Given the description of an element on the screen output the (x, y) to click on. 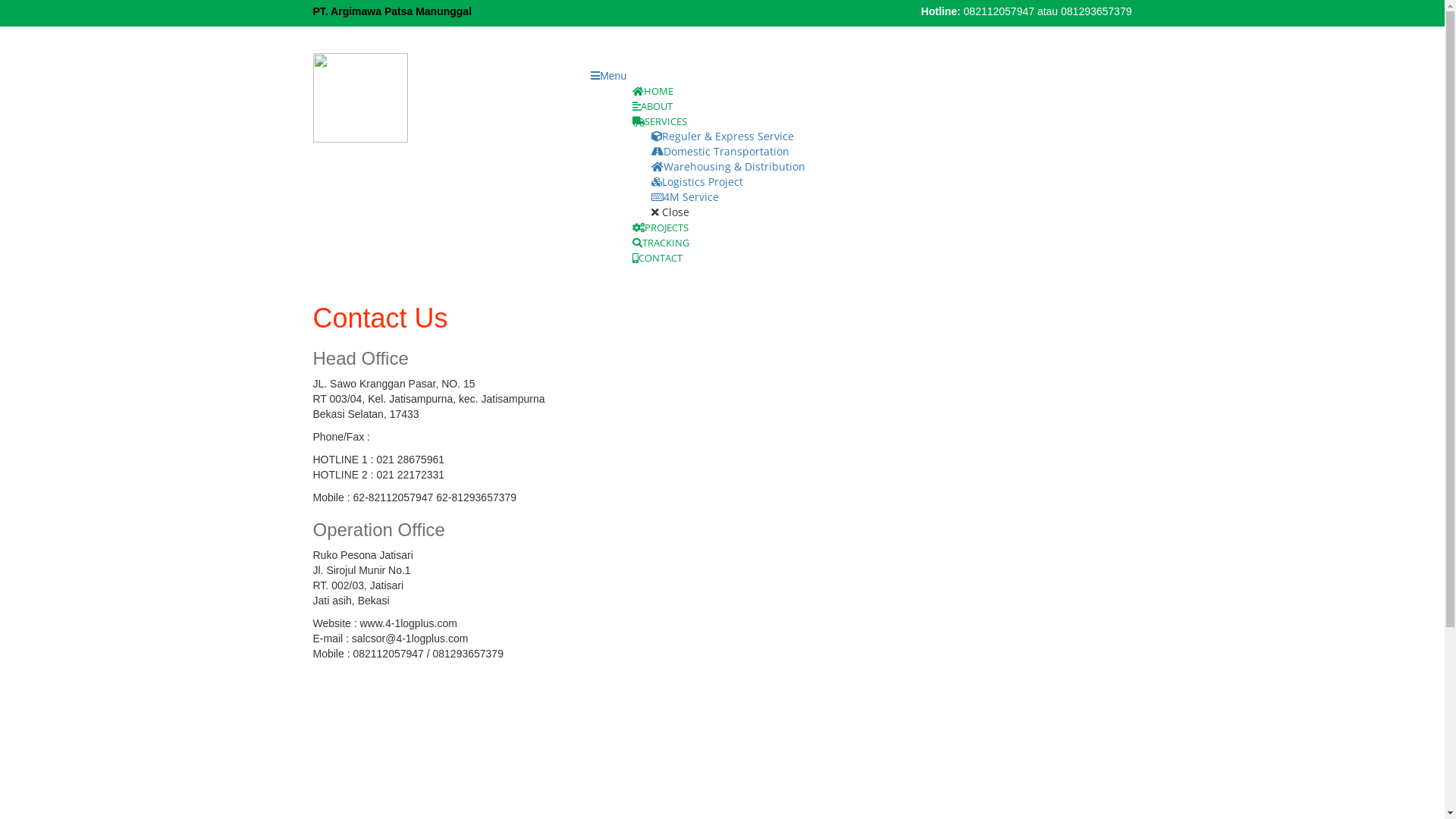
CONTACT Element type: text (657, 257)
PROJECTS Element type: text (660, 227)
Warehousing & Distribution Element type: text (728, 166)
4M Service Element type: text (684, 196)
SERVICES Element type: text (665, 121)
ABOUT Element type: text (652, 105)
HOME Element type: text (652, 90)
Logistics Project Element type: text (697, 181)
Menu Element type: text (608, 75)
Reguler & Express Service Element type: text (722, 135)
TRACKING Element type: text (660, 242)
Domestic Transportation Element type: text (720, 151)
